Given the description of an element on the screen output the (x, y) to click on. 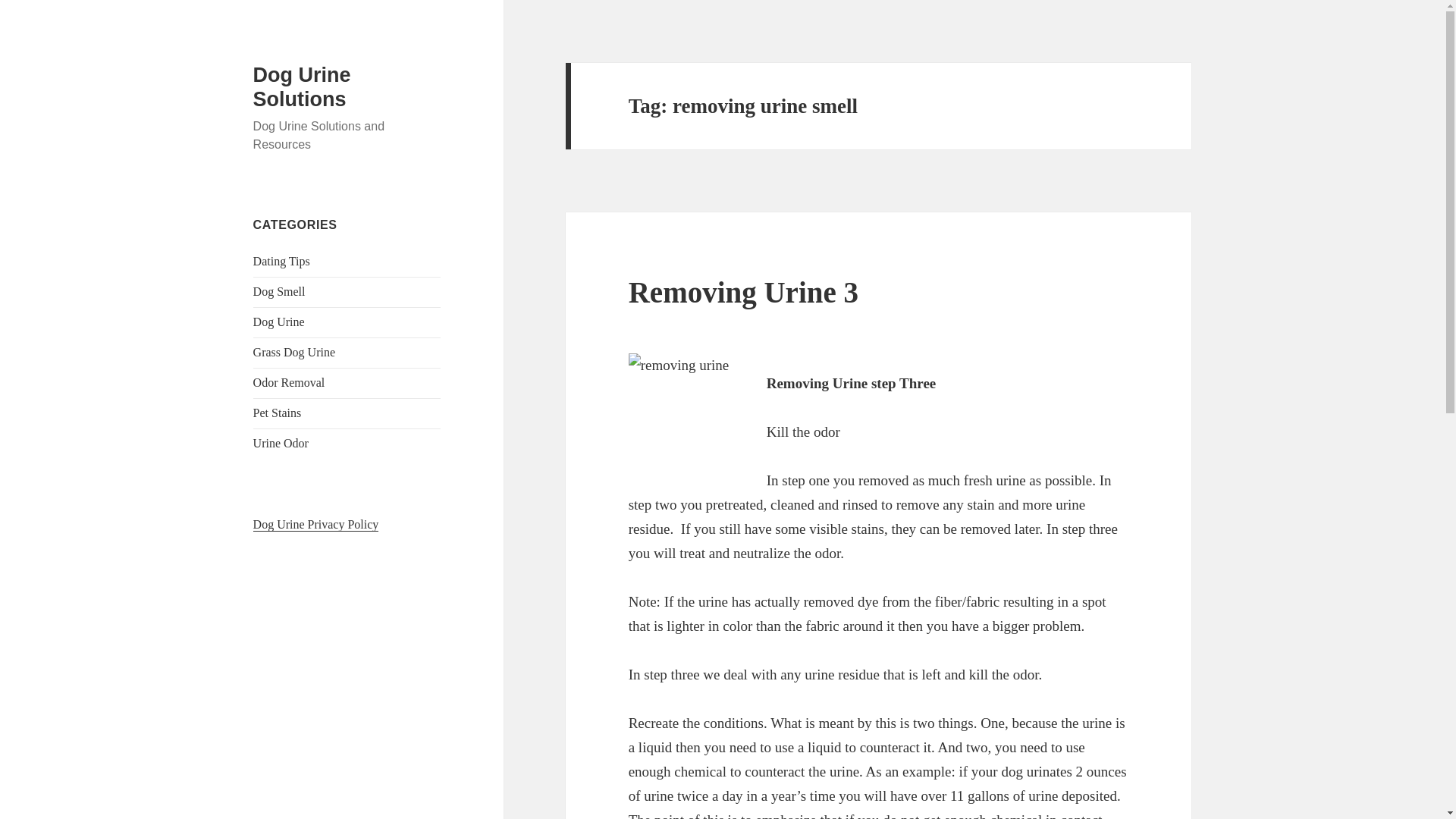
Pet Stains (277, 412)
Dog Urine (278, 321)
Urine Odor (280, 442)
Odor Removal (288, 382)
Dog Urine Privacy Policy (315, 524)
Grass Dog Urine (293, 351)
removing urine (685, 409)
Dog Smell (279, 291)
Dating Tips (281, 260)
Dog Urine Solutions (301, 86)
